Given the description of an element on the screen output the (x, y) to click on. 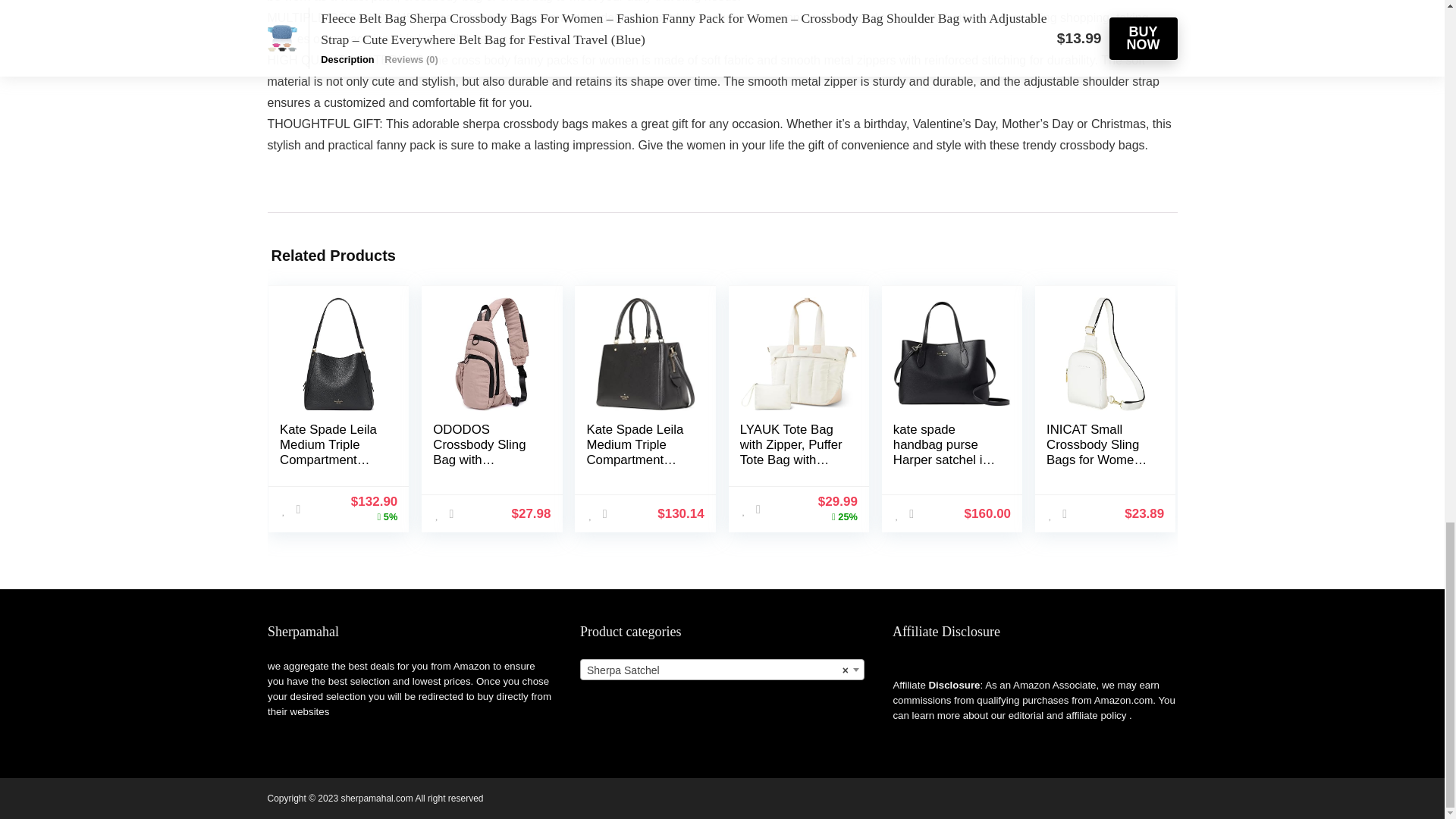
Sherpa Satchel (721, 670)
